Given the description of an element on the screen output the (x, y) to click on. 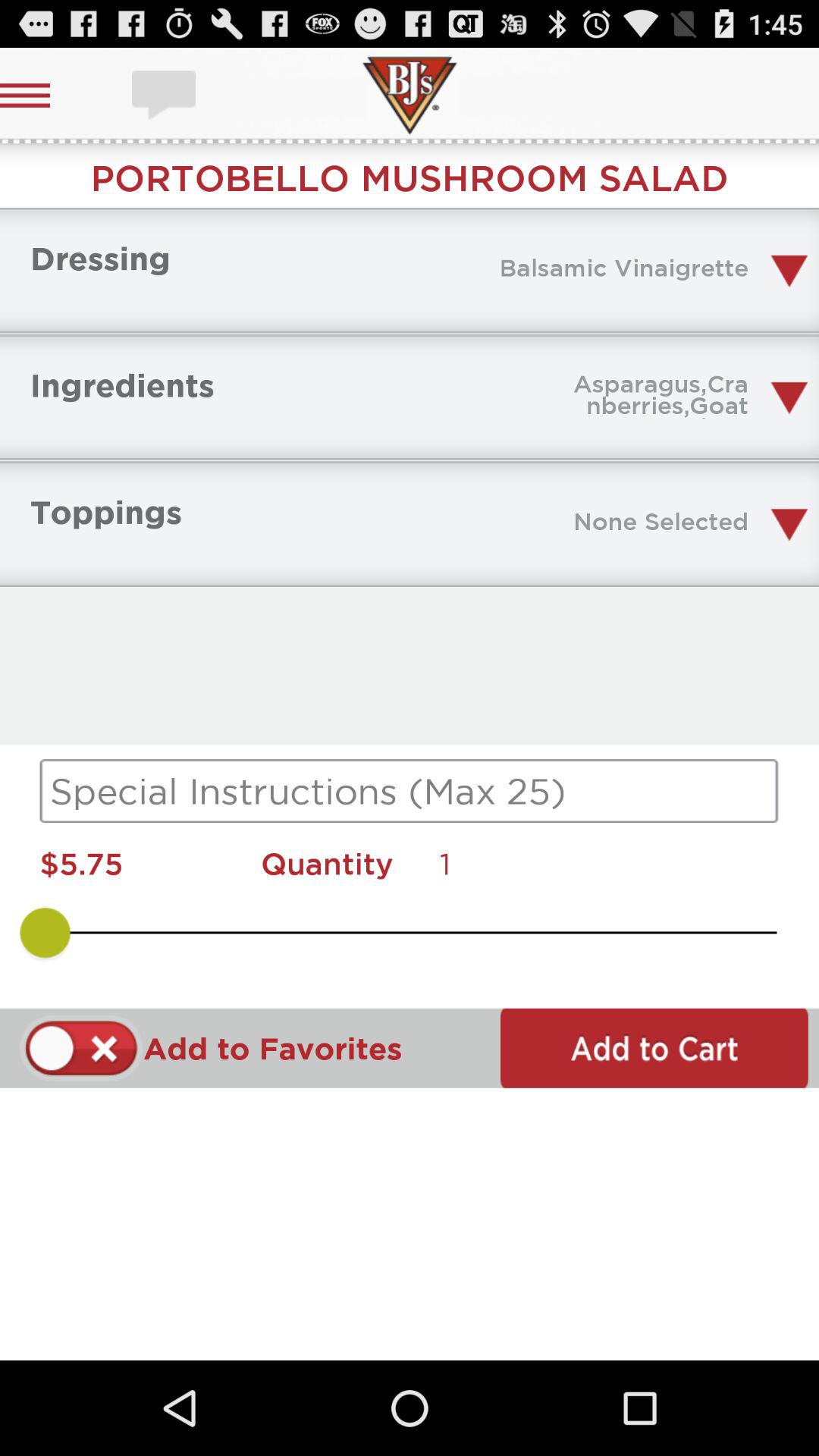
select a drop down button which is after balsamic vinaigrette on page (789, 271)
click on the message icon (165, 95)
click the option beside add to favorites (81, 1047)
click the down arrow to the right of ingredients text (789, 397)
select add to cart button after add to favorites on the page (42, 96)
